Given the description of an element on the screen output the (x, y) to click on. 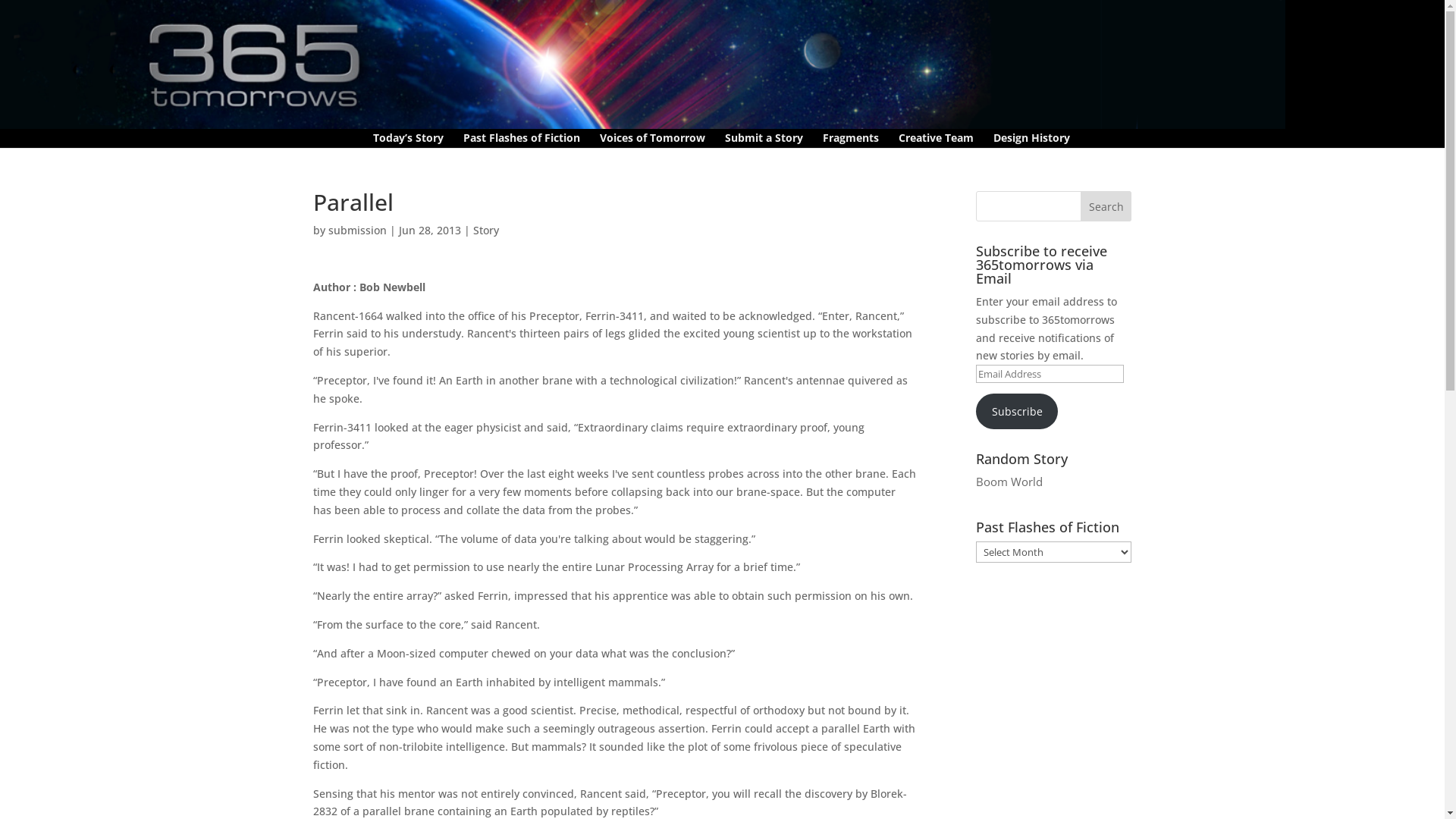
Boom World Element type: text (1008, 481)
Design History Element type: text (1031, 139)
Voices of Tomorrow Element type: text (652, 139)
Submit a Story Element type: text (763, 139)
Story Element type: text (485, 229)
Past Flashes of Fiction Element type: text (521, 139)
Fragments Element type: text (850, 139)
Creative Team Element type: text (935, 139)
Subscribe Element type: text (1016, 410)
Search Element type: text (1106, 206)
submission Element type: text (356, 229)
